Given the description of an element on the screen output the (x, y) to click on. 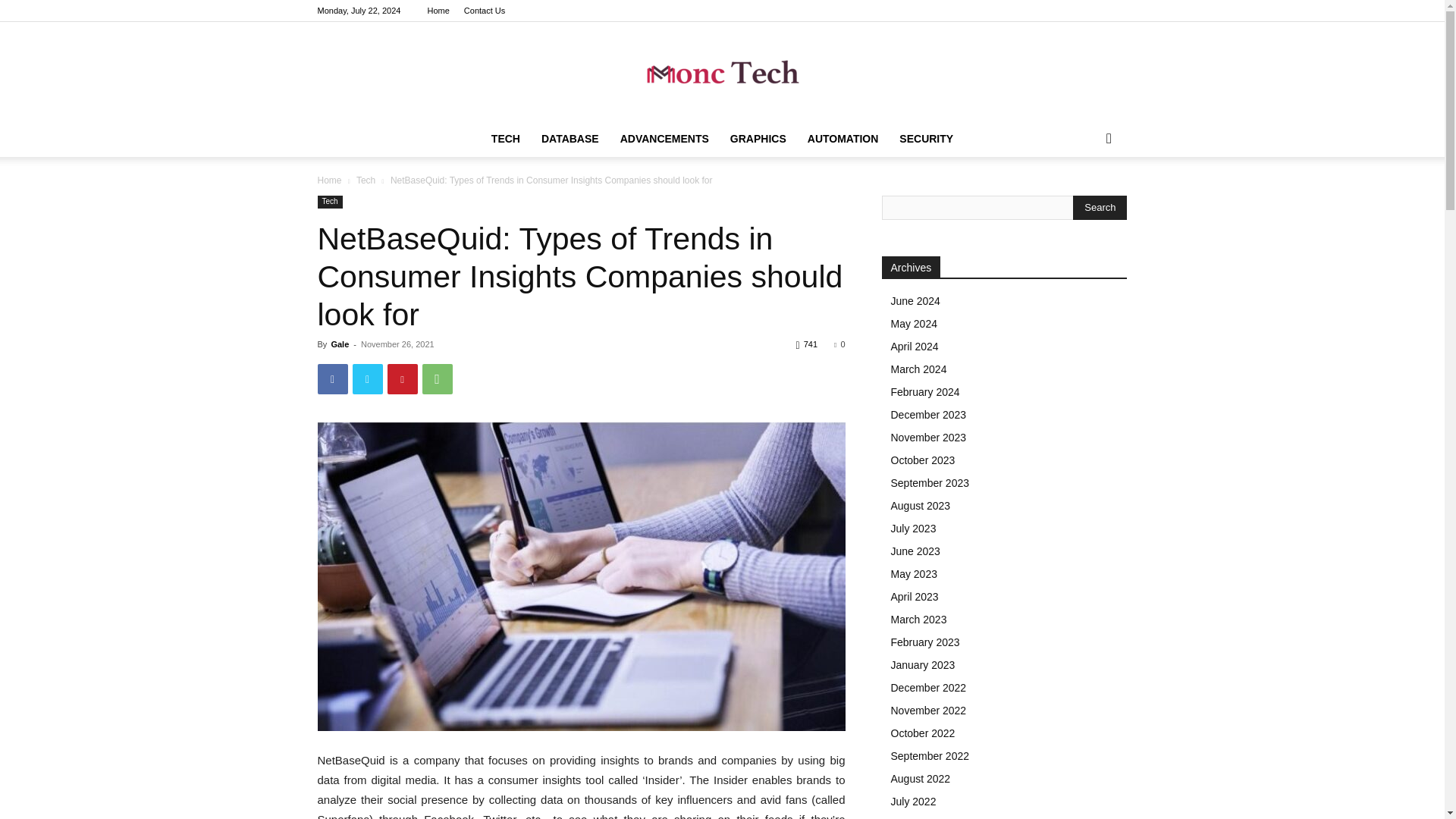
Pinterest (401, 378)
ADVANCEMENTS (664, 138)
0 (839, 343)
Tech (329, 201)
Home (328, 180)
Gale (339, 343)
Facebook (332, 378)
Tech (365, 180)
GRAPHICS (757, 138)
TECH (505, 138)
SECURITY (925, 138)
Home (437, 10)
View all posts in Tech (365, 180)
Search (1085, 199)
